Given the description of an element on the screen output the (x, y) to click on. 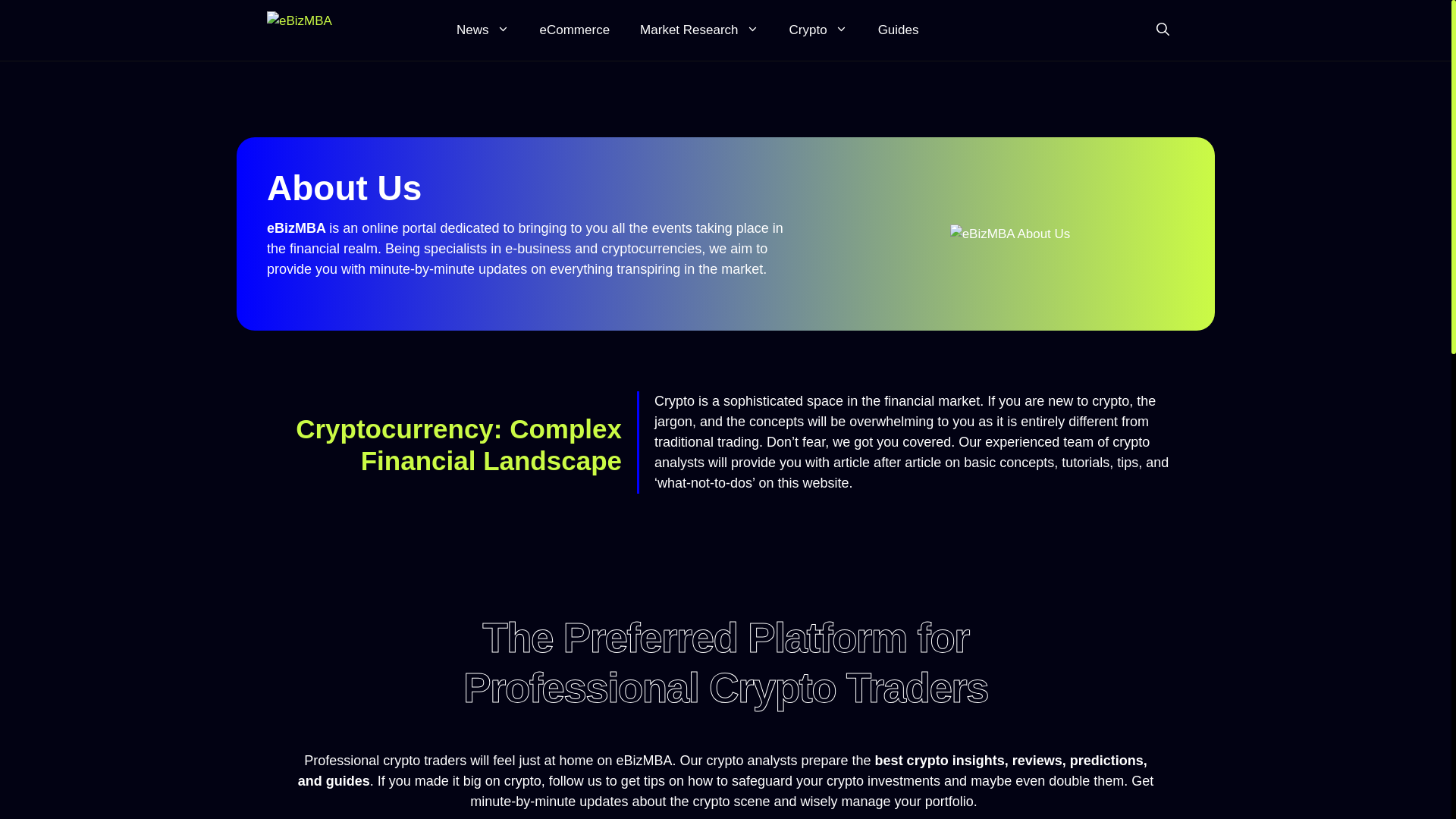
eCommerce (575, 30)
News (482, 30)
Market Research (698, 30)
Crypto (818, 30)
Guides (898, 30)
eBizMBA (349, 30)
E-Biz-MBA-About-Us (1010, 234)
